Given the description of an element on the screen output the (x, y) to click on. 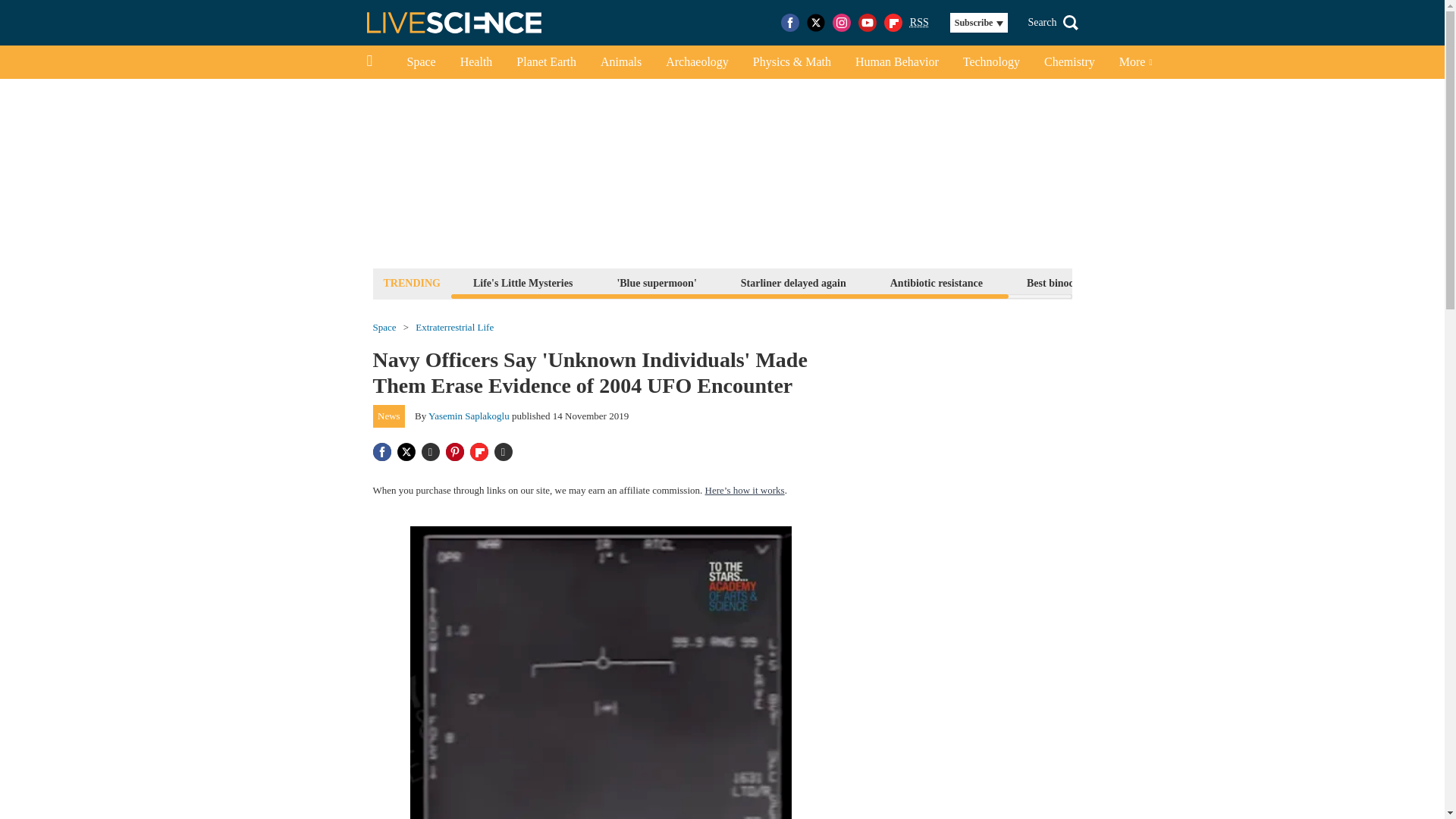
Animals (620, 61)
Starliner delayed again (793, 282)
'Blue supermoon' (656, 282)
Extraterrestrial Life (453, 327)
Human Behavior (896, 61)
Technology (991, 61)
Life's Little Mysteries (522, 282)
Chemistry (1069, 61)
Archaeology (697, 61)
Best binoculars 2024 (1073, 282)
